Given the description of an element on the screen output the (x, y) to click on. 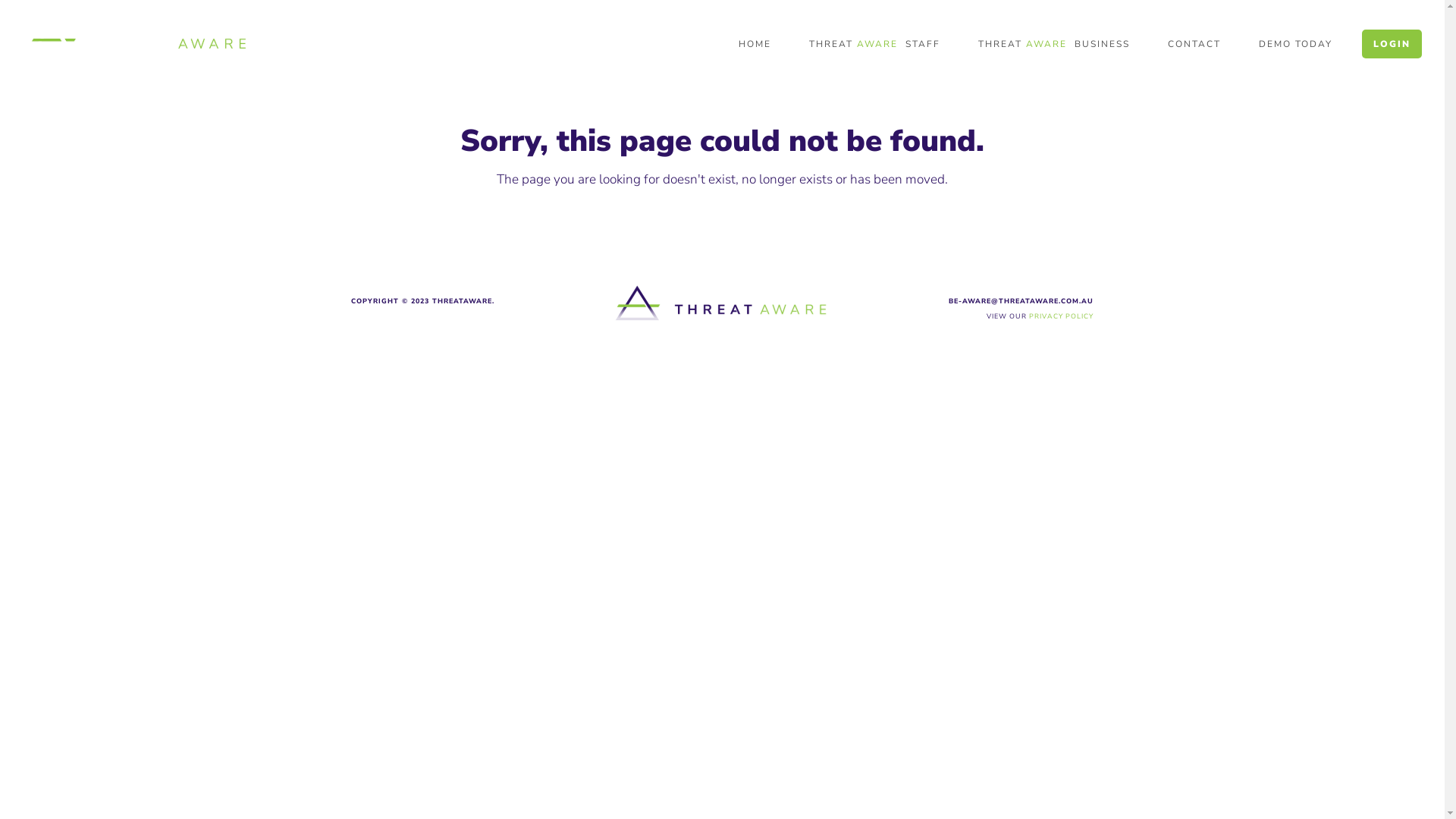
CONTACT Element type: text (1194, 43)
DEMO TODAY Element type: text (1295, 43)
LOGIN Element type: text (1391, 43)
PRIVACY POLICY Element type: text (1061, 315)
HOME Element type: text (754, 43)
THREAT AWARE  BUSINESS Element type: text (1053, 43)
THREAT AWARE  STAFF Element type: text (874, 43)
